Given the description of an element on the screen output the (x, y) to click on. 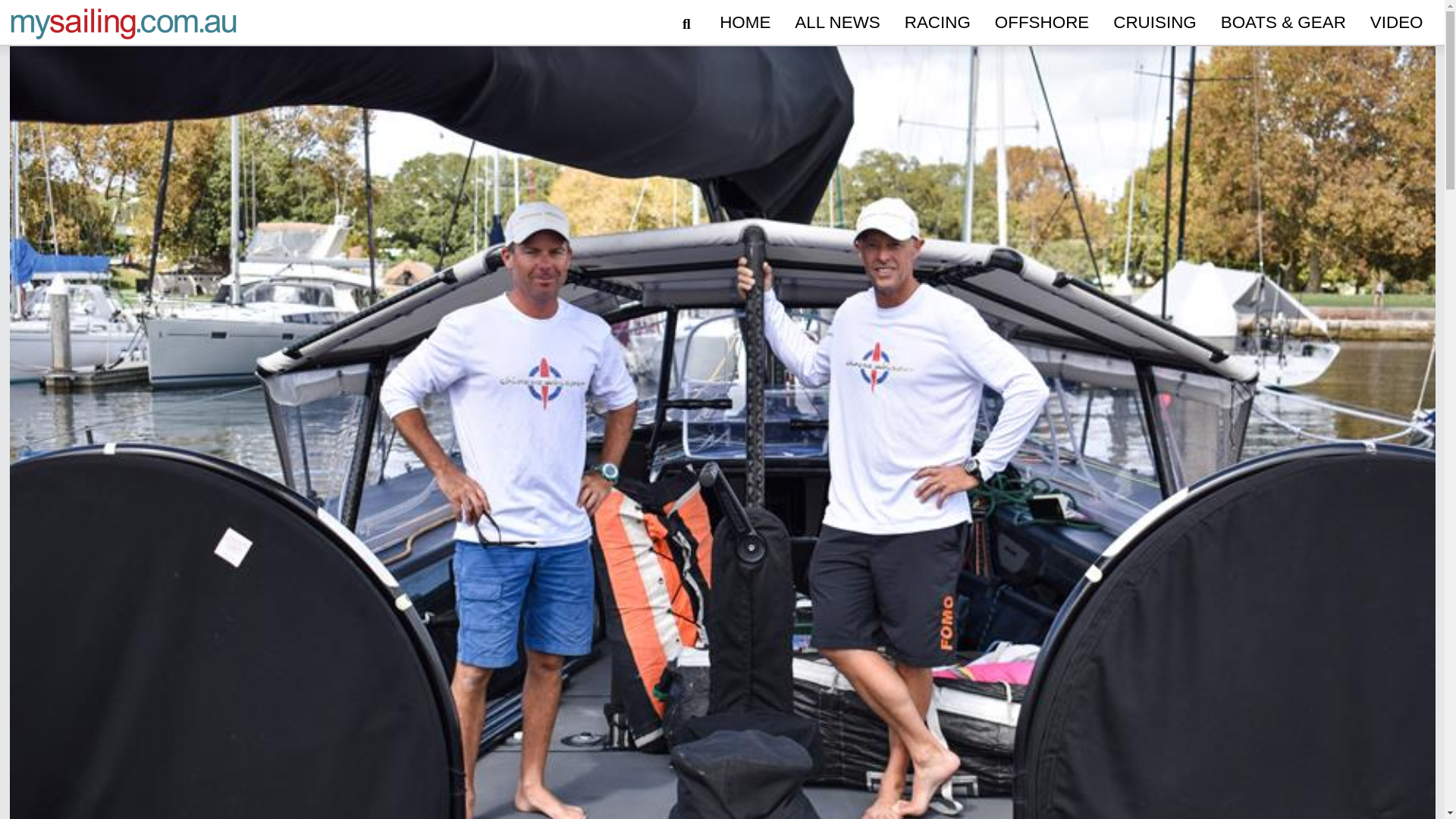
All News (837, 22)
RACING (937, 22)
CRUISING (1154, 22)
Video (1396, 22)
Cruising (1154, 22)
ALL NEWS (837, 22)
Racing (937, 22)
Offshore (1041, 22)
OFFSHORE (1041, 22)
HOME (744, 22)
VIDEO (1396, 22)
Home (744, 22)
